Given the description of an element on the screen output the (x, y) to click on. 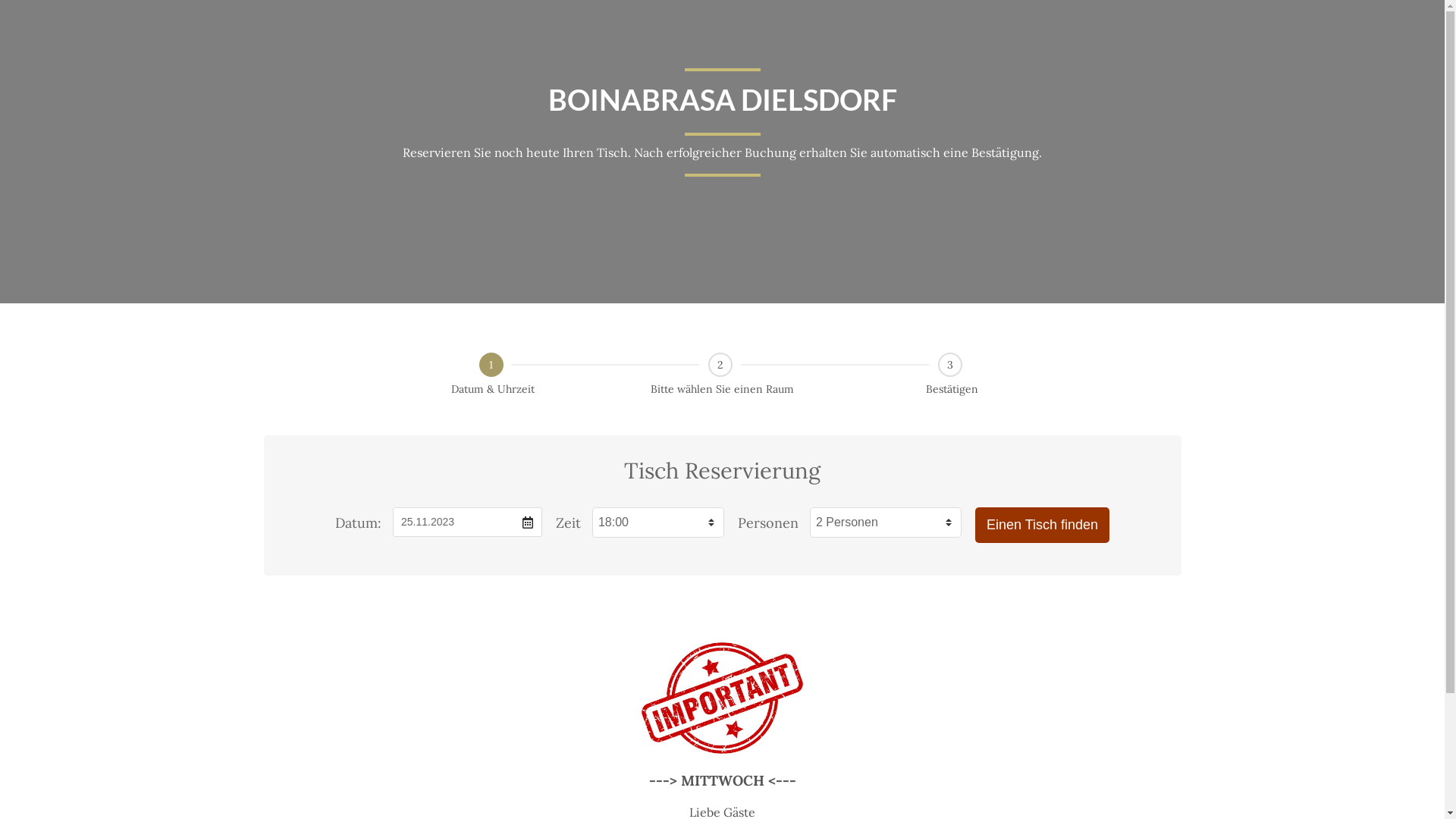
Einen Tisch finden Element type: text (1042, 524)
